Given the description of an element on the screen output the (x, y) to click on. 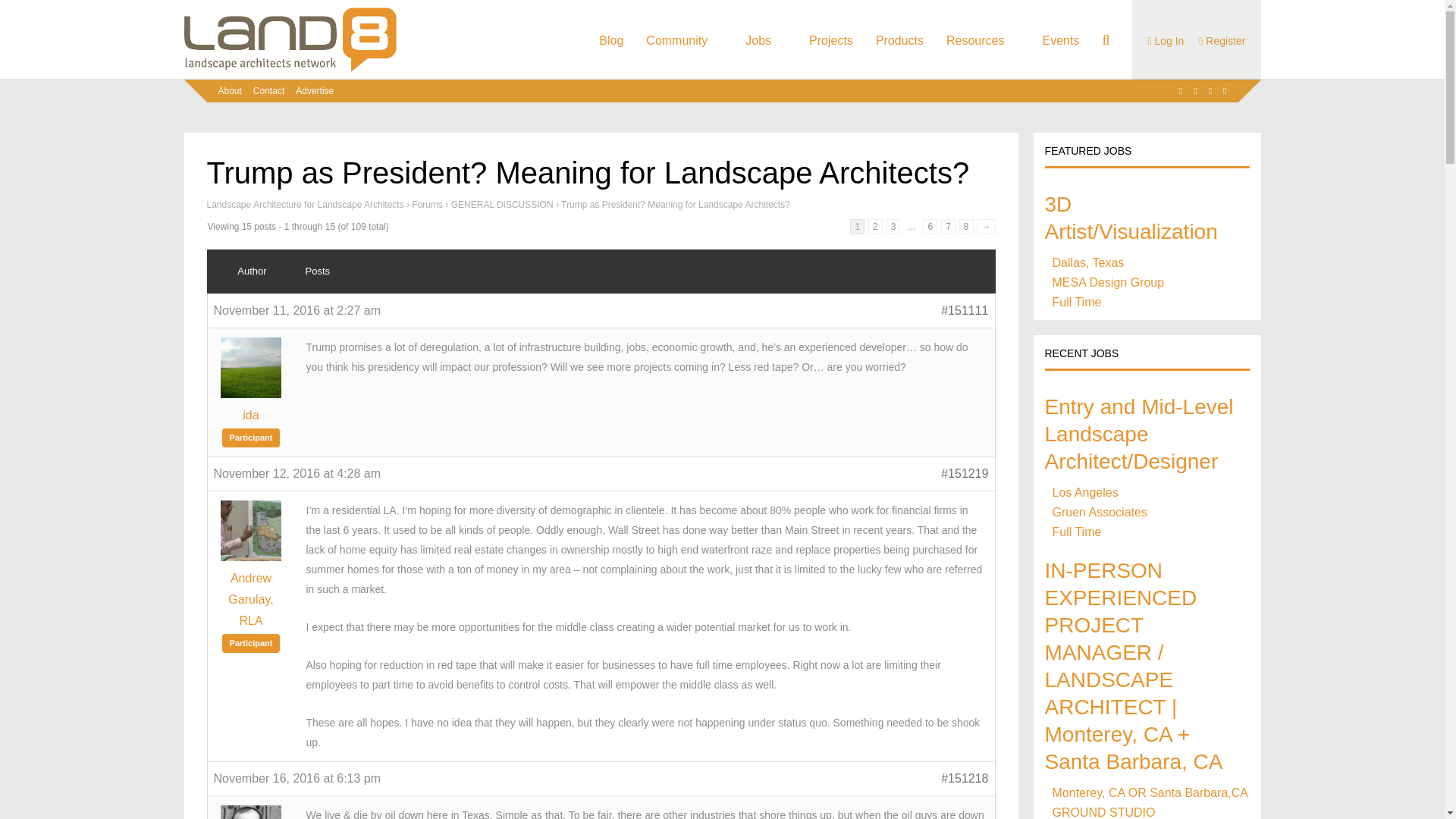
About (229, 90)
View Andrew Garulay, RLA's profile (251, 599)
View ida's profile (251, 415)
Land8 (289, 68)
